Given the description of an element on the screen output the (x, y) to click on. 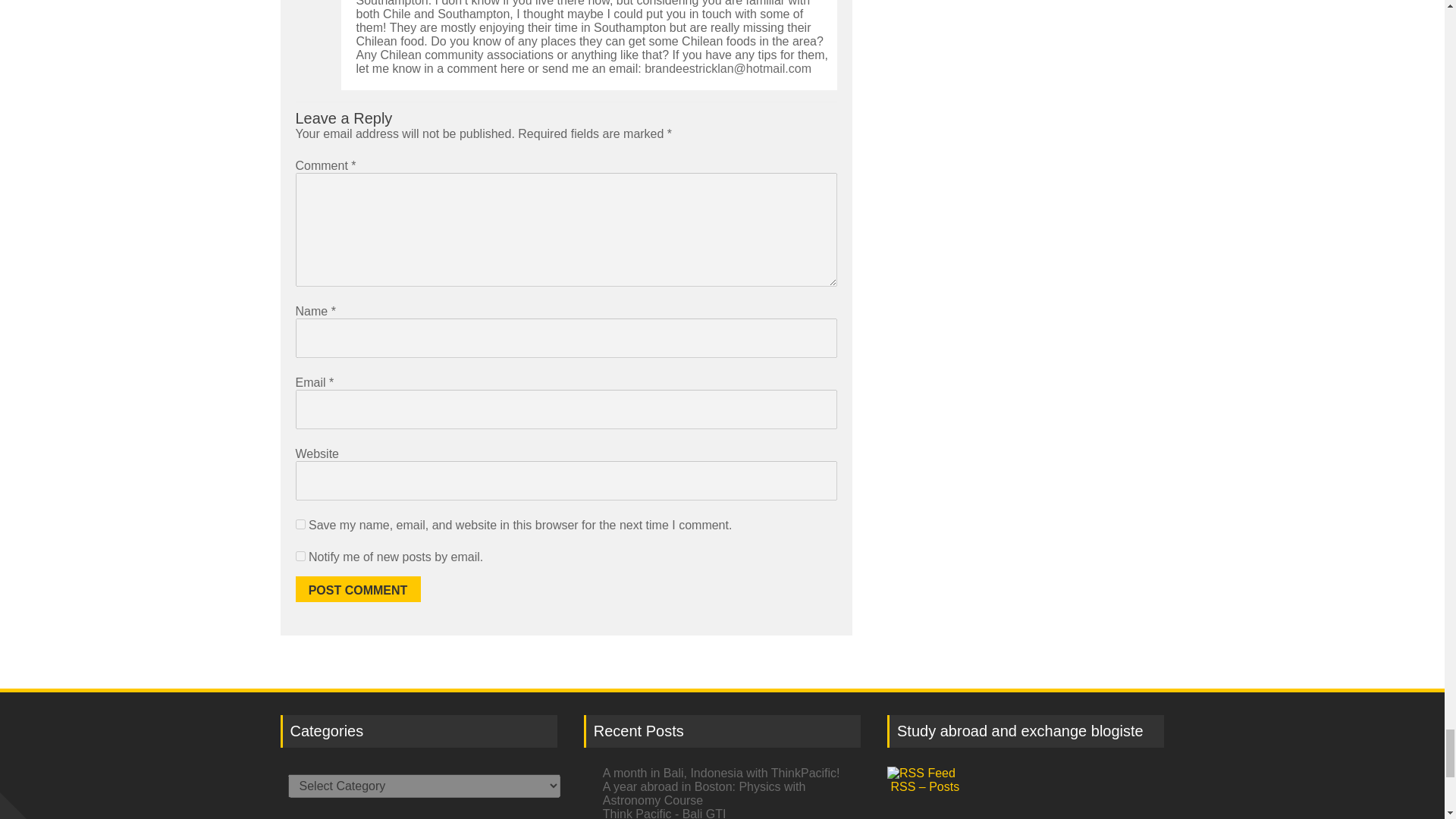
subscribe (300, 556)
Post Comment (357, 588)
yes (300, 524)
Subscribe to posts (1024, 779)
